Given the description of an element on the screen output the (x, y) to click on. 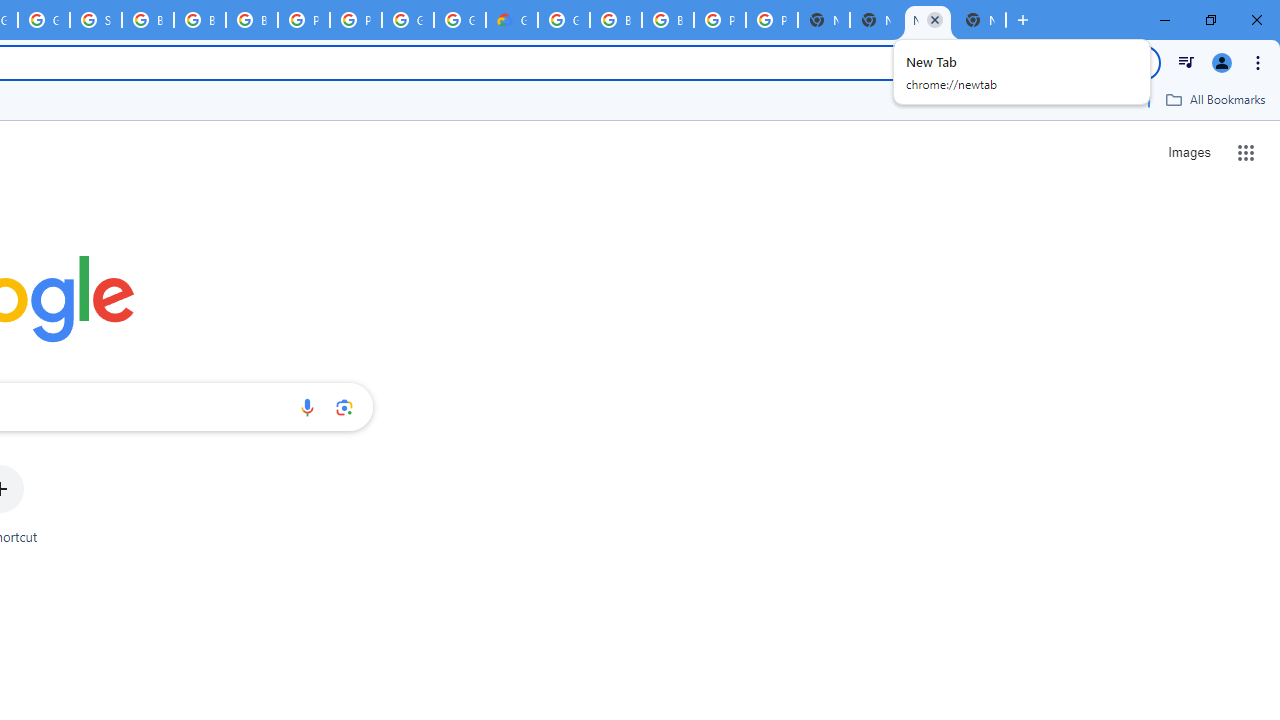
New Tab (979, 20)
Google Cloud Platform (407, 20)
Google Cloud Platform (563, 20)
Google Cloud Estimate Summary (511, 20)
Browse Chrome as a guest - Computer - Google Chrome Help (147, 20)
